Given the description of an element on the screen output the (x, y) to click on. 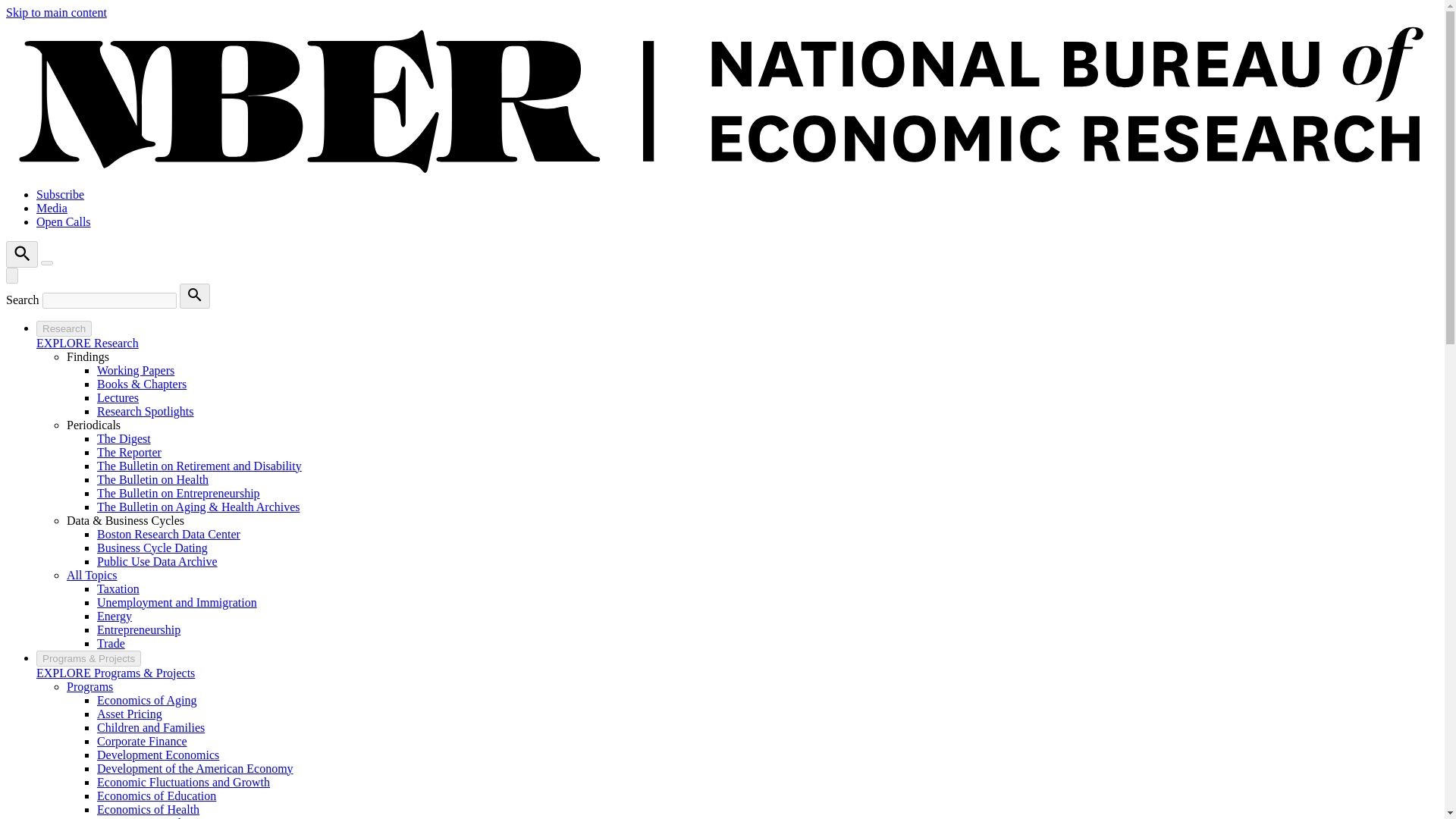
The Bulletin on Entrepreneurship (178, 492)
Trade (111, 643)
Media (51, 207)
All Topics (91, 574)
Research (63, 328)
Asset Pricing (129, 713)
Economic Fluctuations and Growth (183, 781)
Skip to main content (55, 11)
Business Cycle Dating (152, 547)
Open Calls (63, 221)
